Given the description of an element on the screen output the (x, y) to click on. 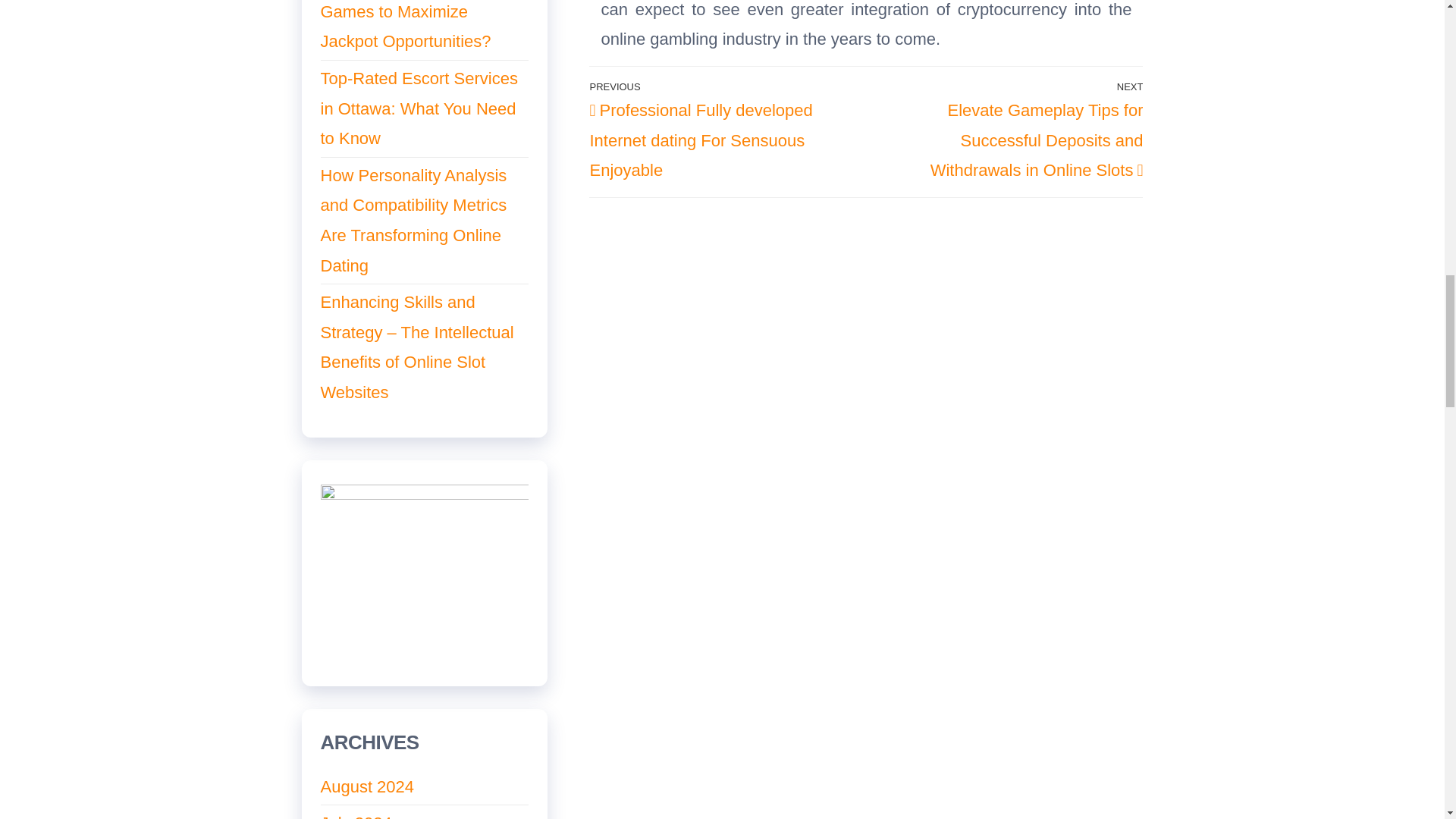
August 2024 (366, 786)
July 2024 (355, 816)
Top-Rated Escort Services in Ottawa: What You Need to Know (418, 108)
